Given the description of an element on the screen output the (x, y) to click on. 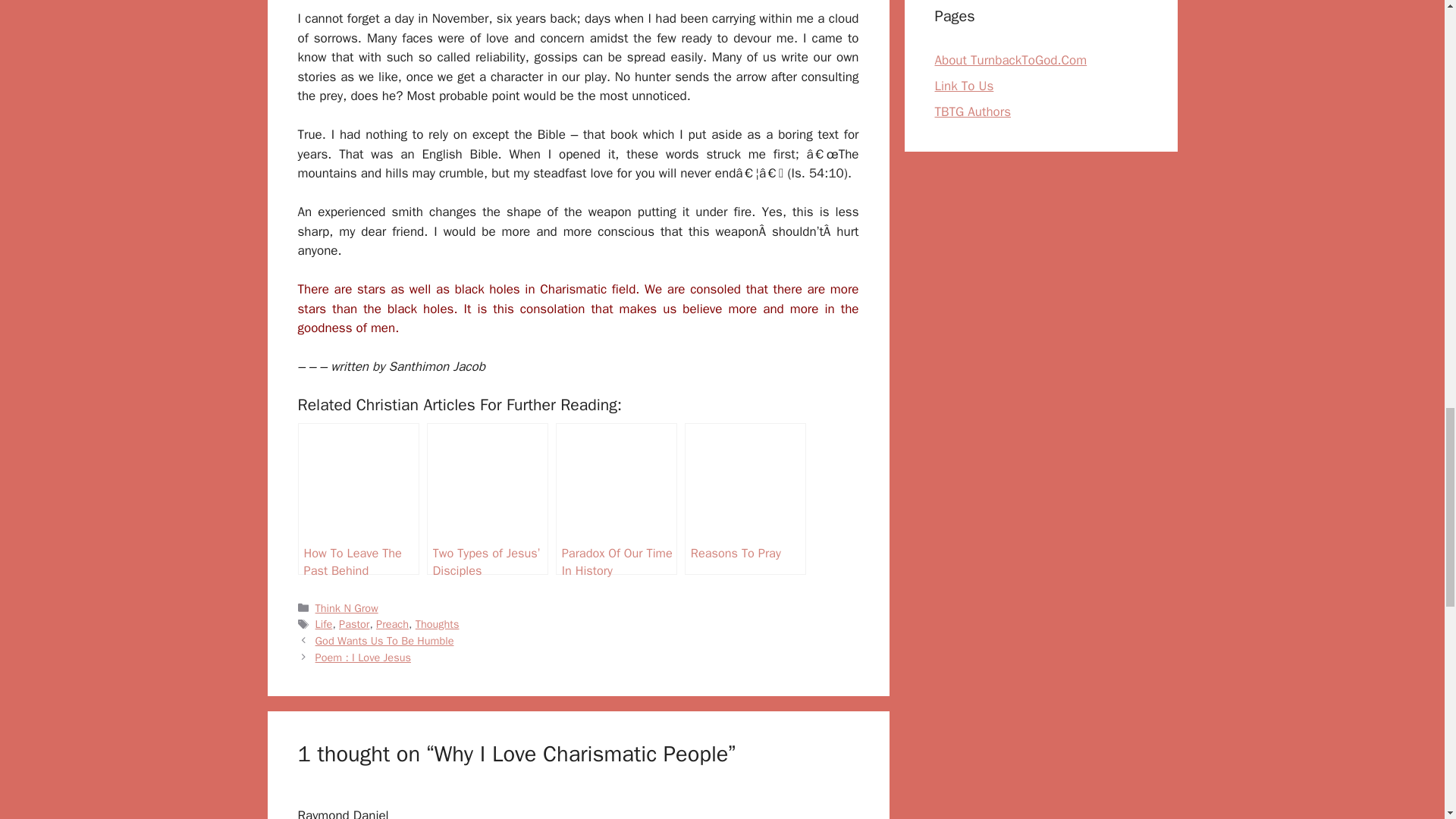
Thoughts (437, 623)
Life (324, 623)
Preach (392, 623)
God Wants Us To Be Humble (384, 640)
Poem : I Love Jesus (362, 657)
Think N Grow (346, 608)
Pastor (354, 623)
